Given the description of an element on the screen output the (x, y) to click on. 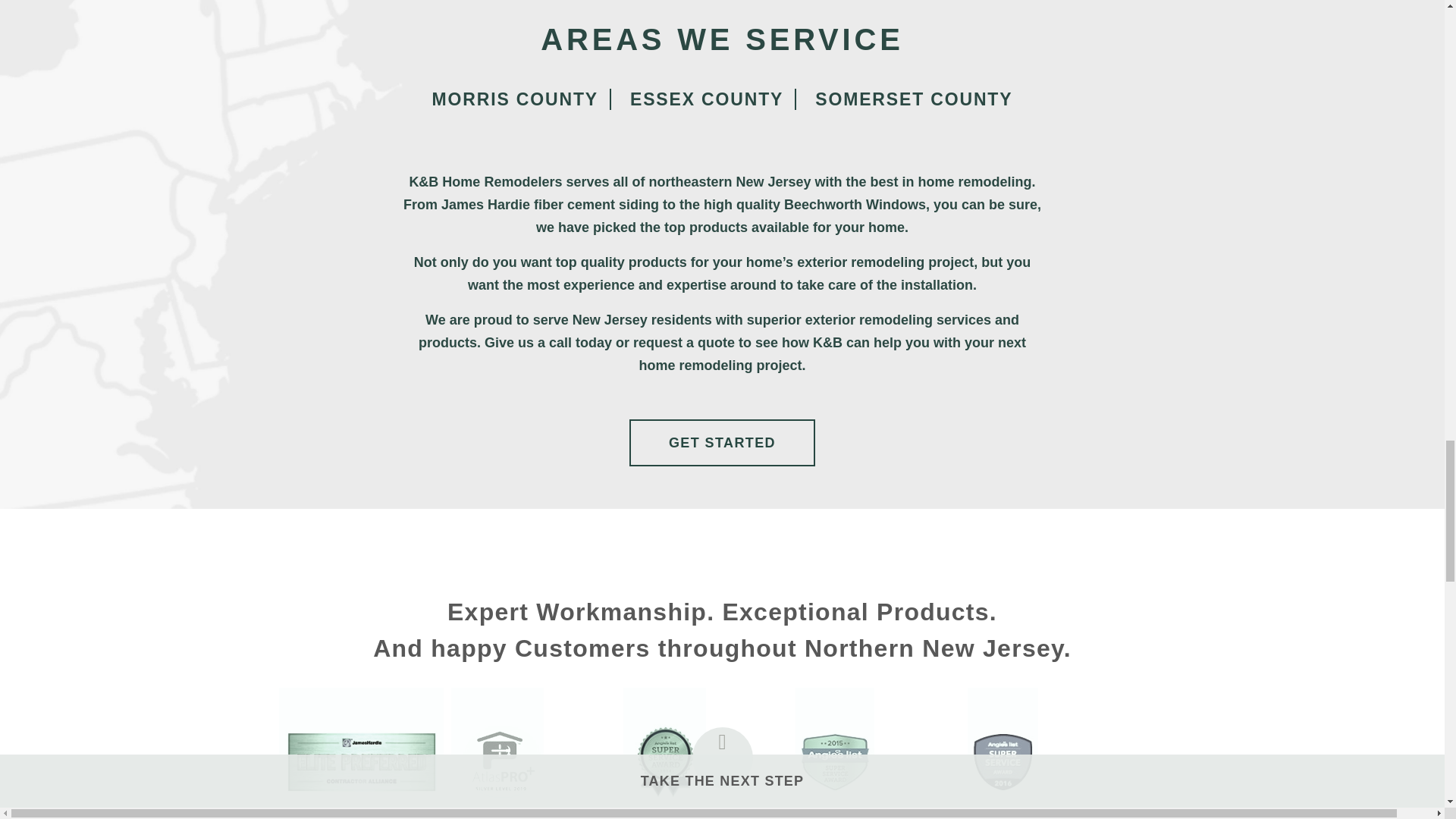
ESSEX COUNTY (707, 98)
GET STARTED (721, 442)
JamesHardie (361, 753)
MORRIS COUNTY (515, 98)
SOMERSET COUNTY (913, 98)
